Given the description of an element on the screen output the (x, y) to click on. 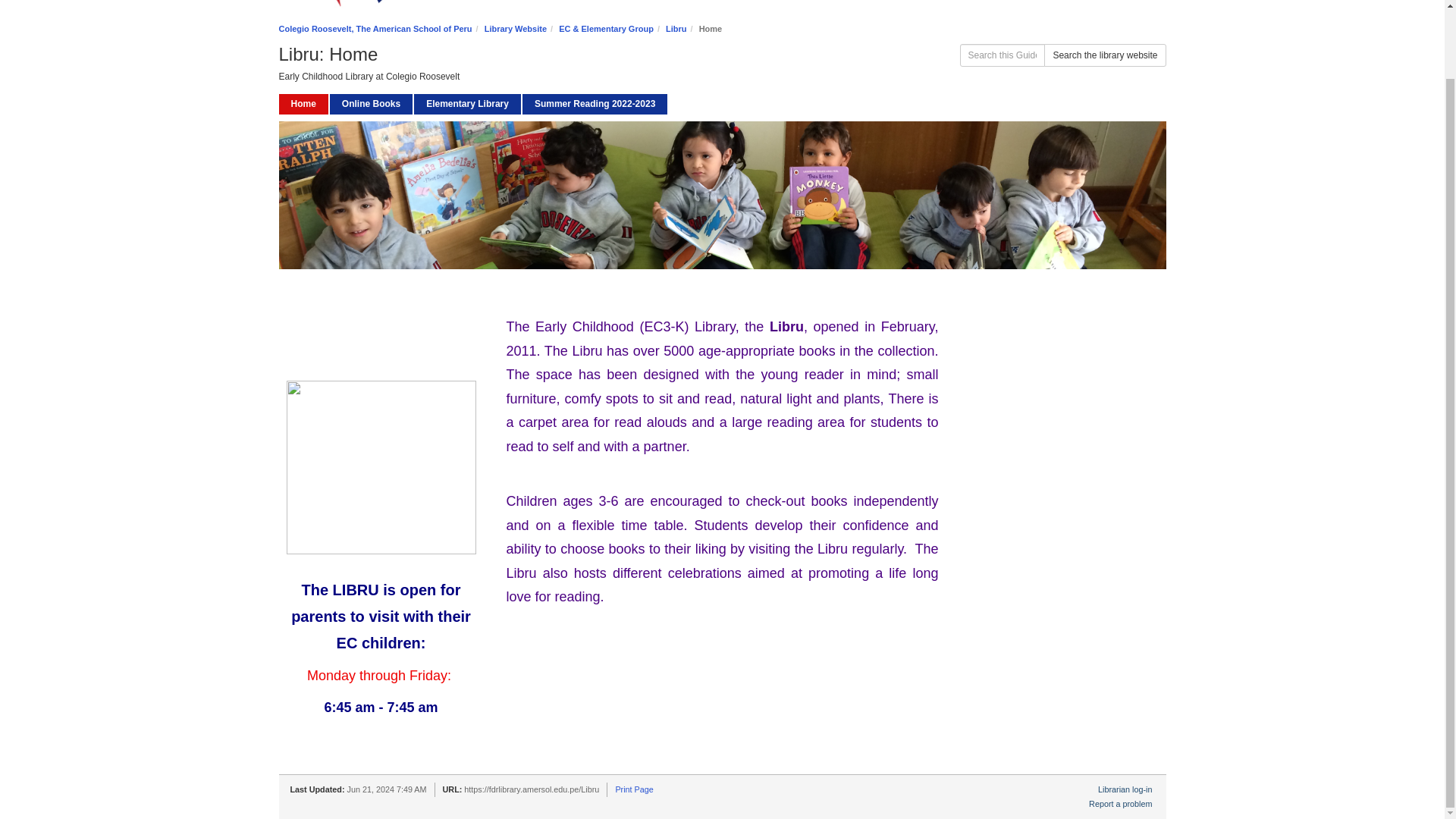
Online Books (371, 104)
Libru (676, 28)
Summer Reading 2022-2023 (594, 104)
Report a problem (1120, 803)
Librarian log-in (1124, 788)
Colegio Roosevelt, The American School of Peru (375, 28)
Search the library website (1104, 55)
Home (304, 104)
Print Page (633, 788)
Library Website (515, 28)
